Given the description of an element on the screen output the (x, y) to click on. 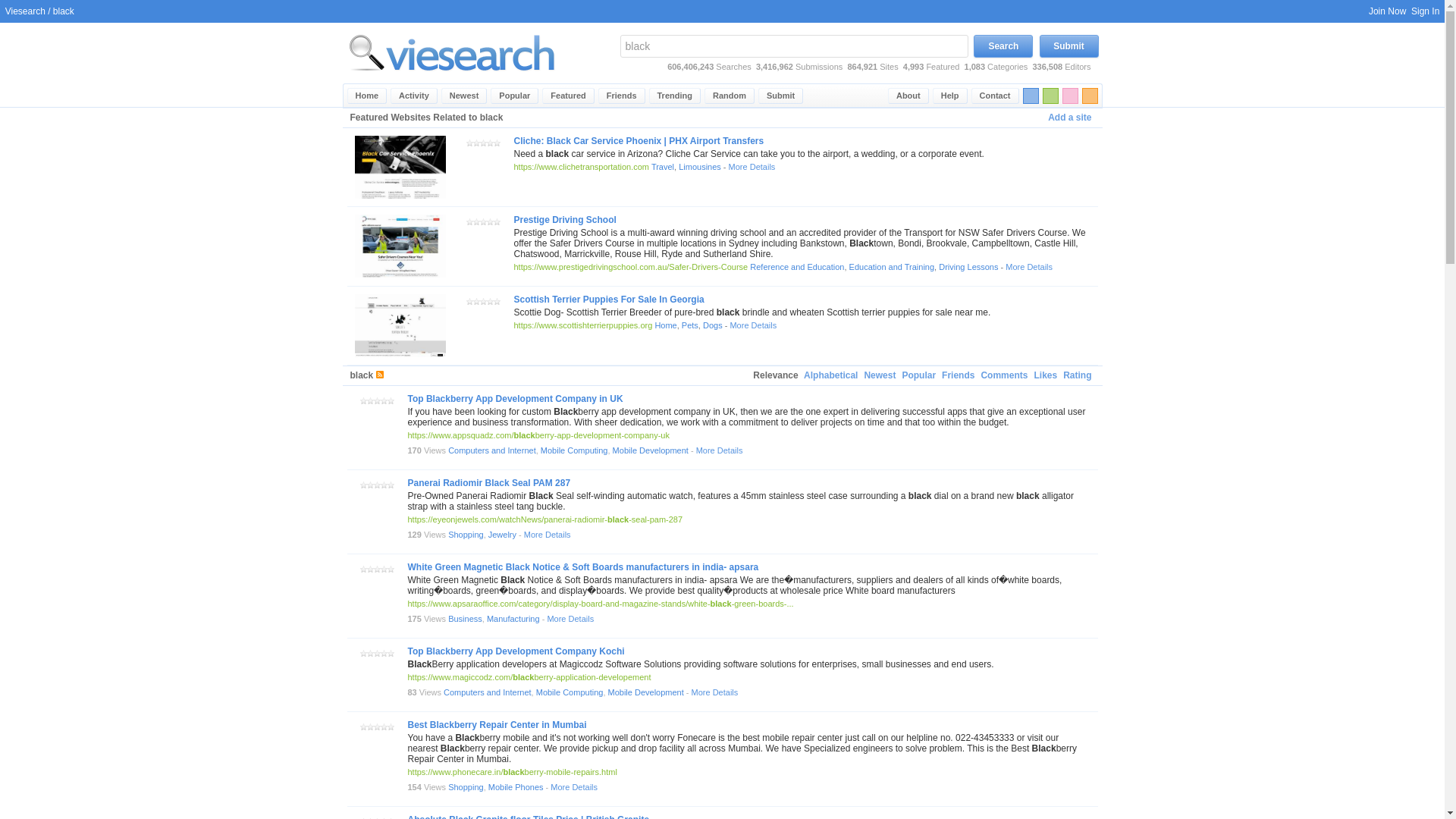
Viesearch - Human Powered Search Engine (452, 52)
Newest (464, 95)
black (794, 46)
Viesearch (367, 95)
Some of our Lastest Referrers (621, 95)
Home (665, 325)
Sign In (1424, 10)
Popular (514, 95)
Home (367, 95)
Reference and Education (796, 266)
